Given the description of an element on the screen output the (x, y) to click on. 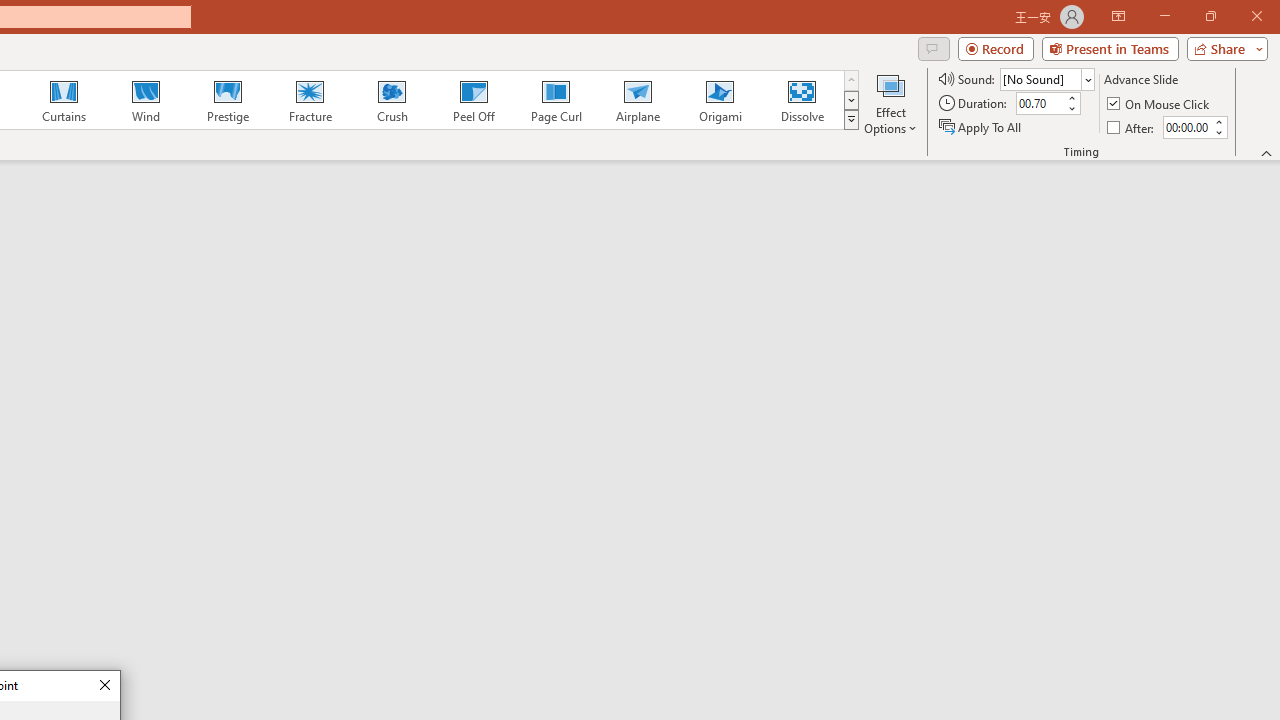
Dissolve (802, 100)
Prestige (227, 100)
Crush (391, 100)
